Given the description of an element on the screen output the (x, y) to click on. 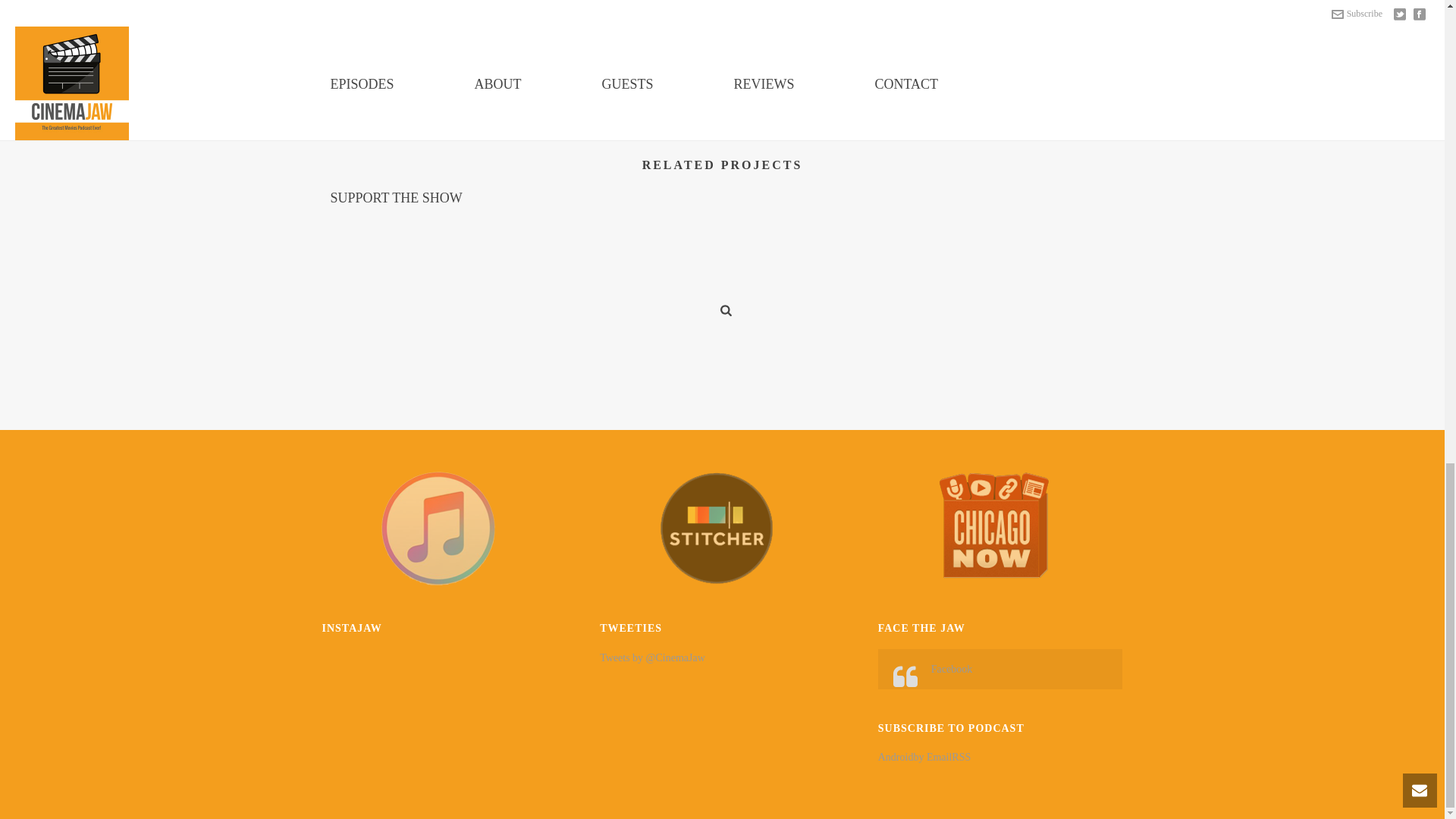
Animal : A Bite Sized Review from CinemaJaw (829, 297)
The Old Man and the Gun (614, 297)
Transit : A Bite Sized Review from CinemaJaw (1046, 297)
Can You Ever Forgive Me (397, 297)
